Given the description of an element on the screen output the (x, y) to click on. 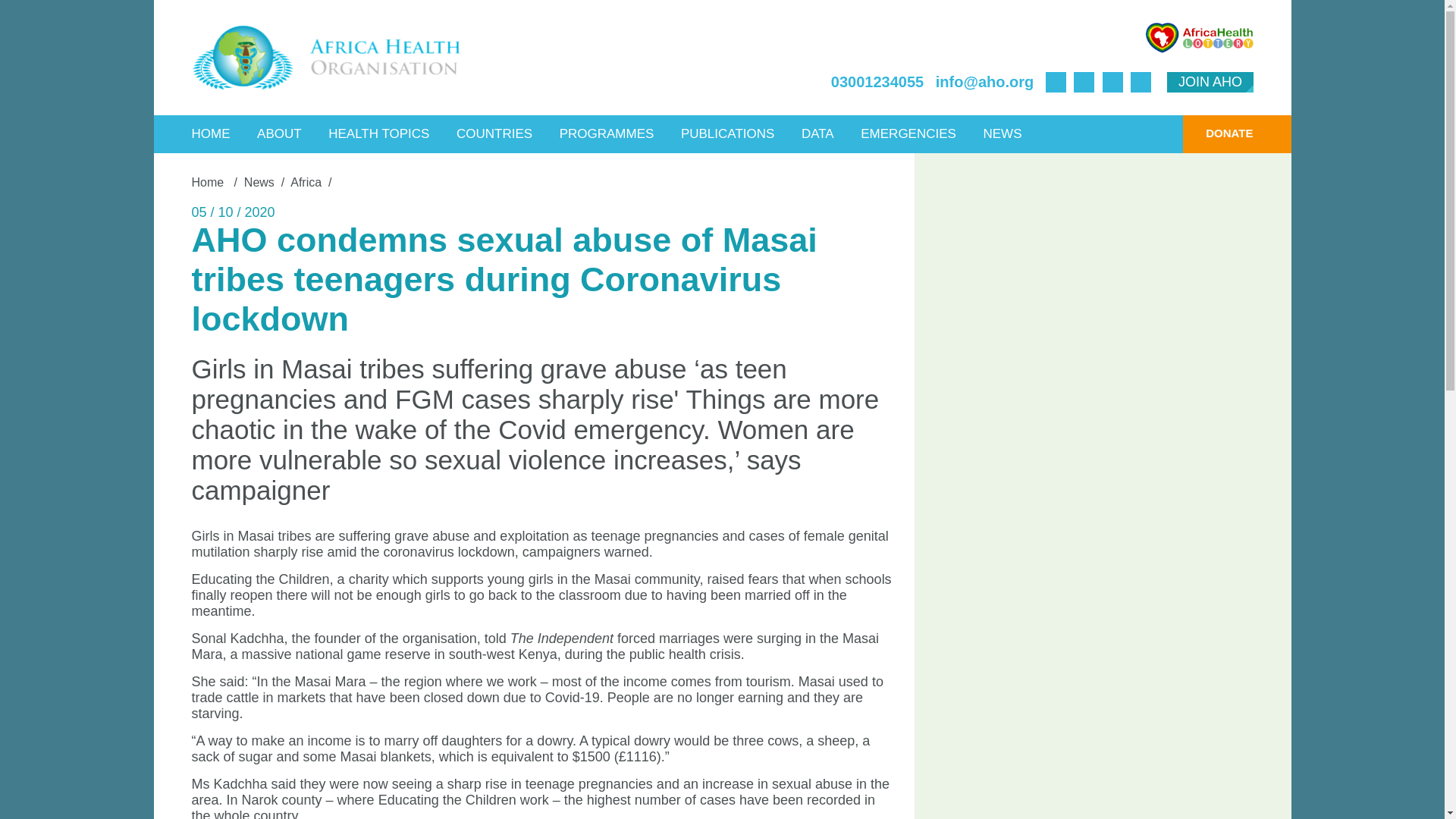
03001234055 (877, 81)
Go to News. (259, 182)
NEWS (1001, 134)
JOIN AHO (1210, 82)
DATA (817, 134)
PUBLICATIONS (727, 134)
PROGRAMMES (606, 134)
ABOUT (279, 134)
Go to Africa Health Organisation. (208, 182)
Home (208, 182)
DONATE (1217, 134)
HOME (210, 134)
COUNTRIES (494, 134)
Go to the Africa category archives. (305, 182)
Africa (305, 182)
